Given the description of an element on the screen output the (x, y) to click on. 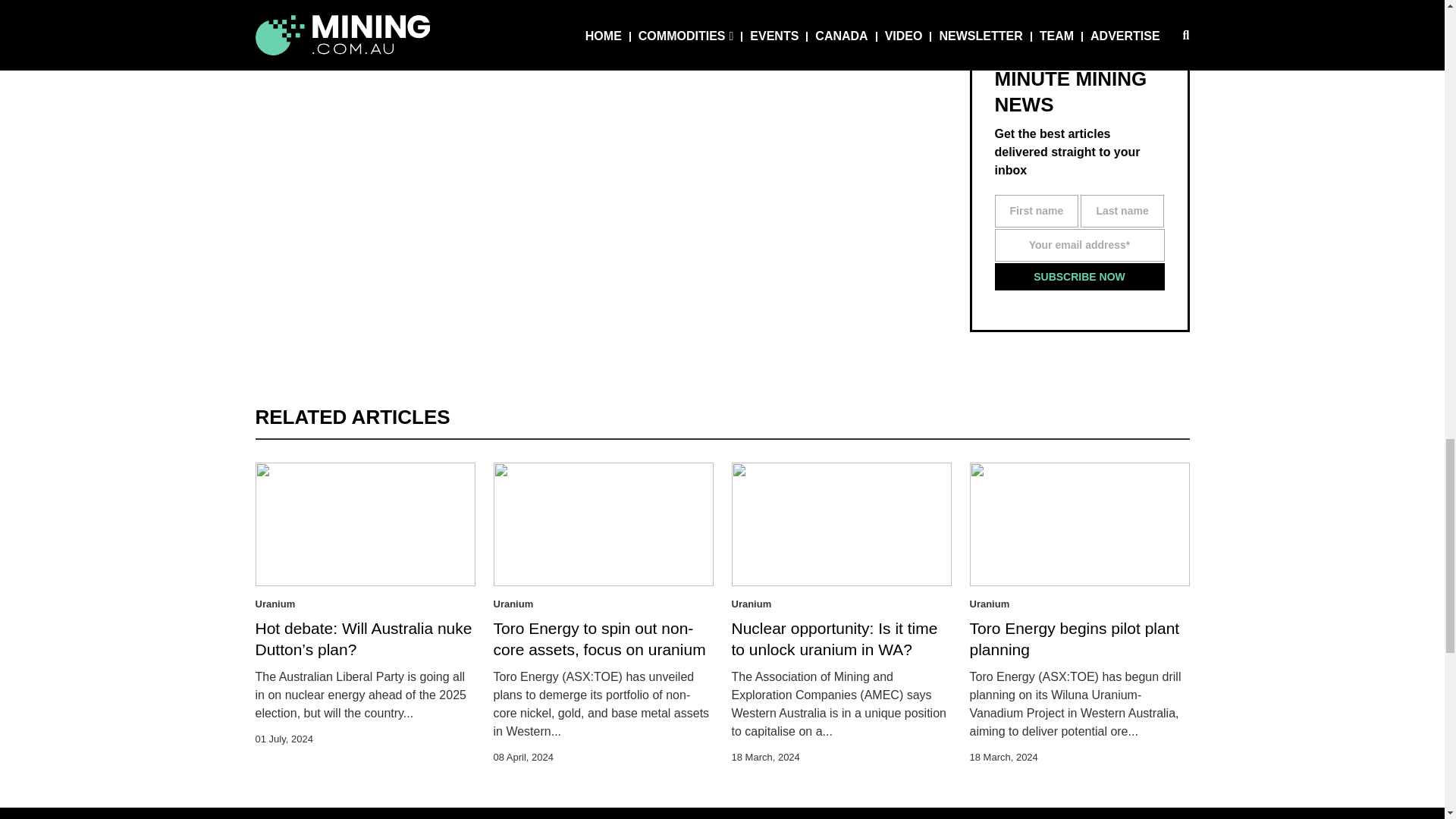
Subscribe Now (1079, 276)
